Given the description of an element on the screen output the (x, y) to click on. 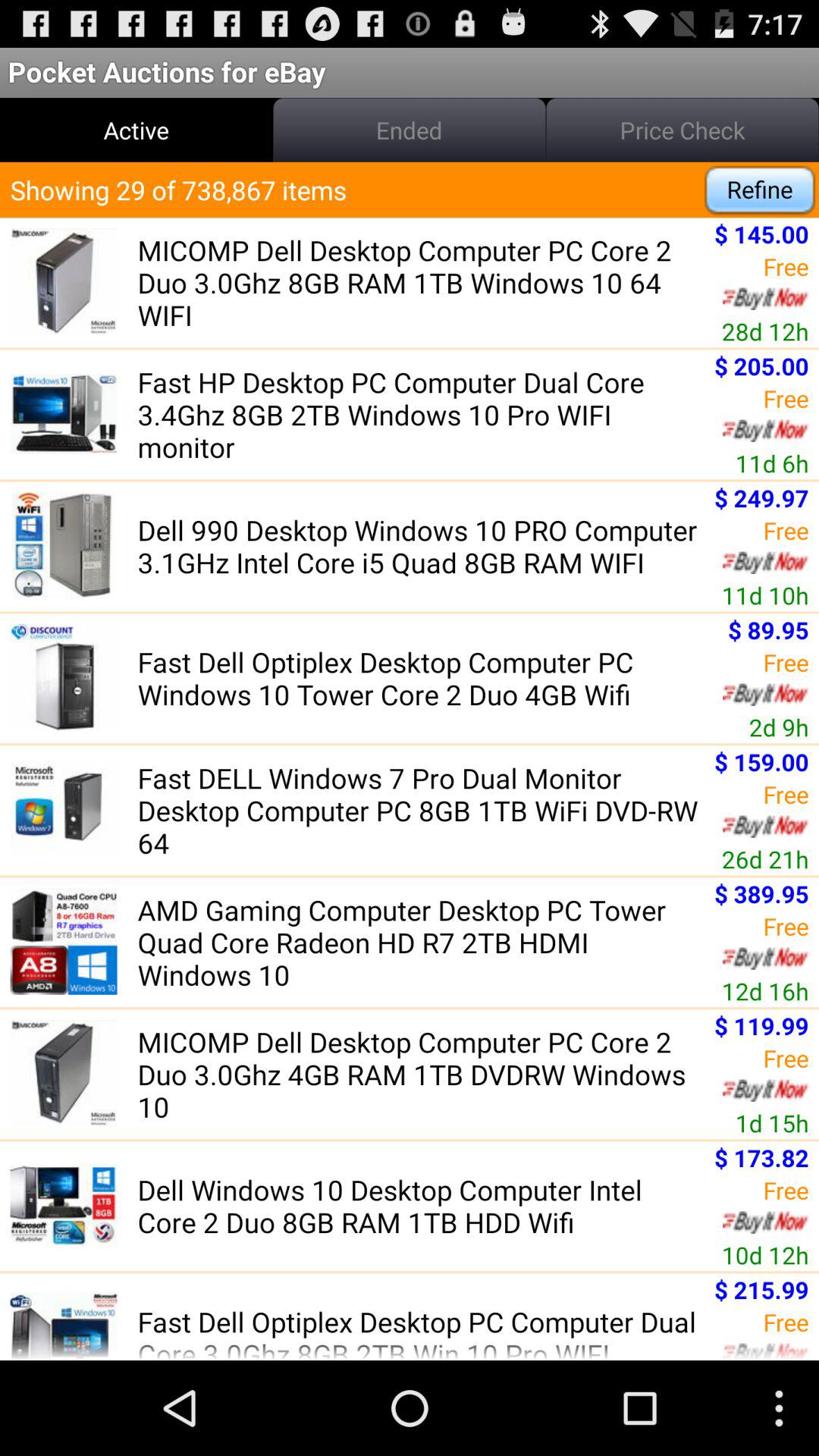
scroll until amd gaming computer app (420, 942)
